Given the description of an element on the screen output the (x, y) to click on. 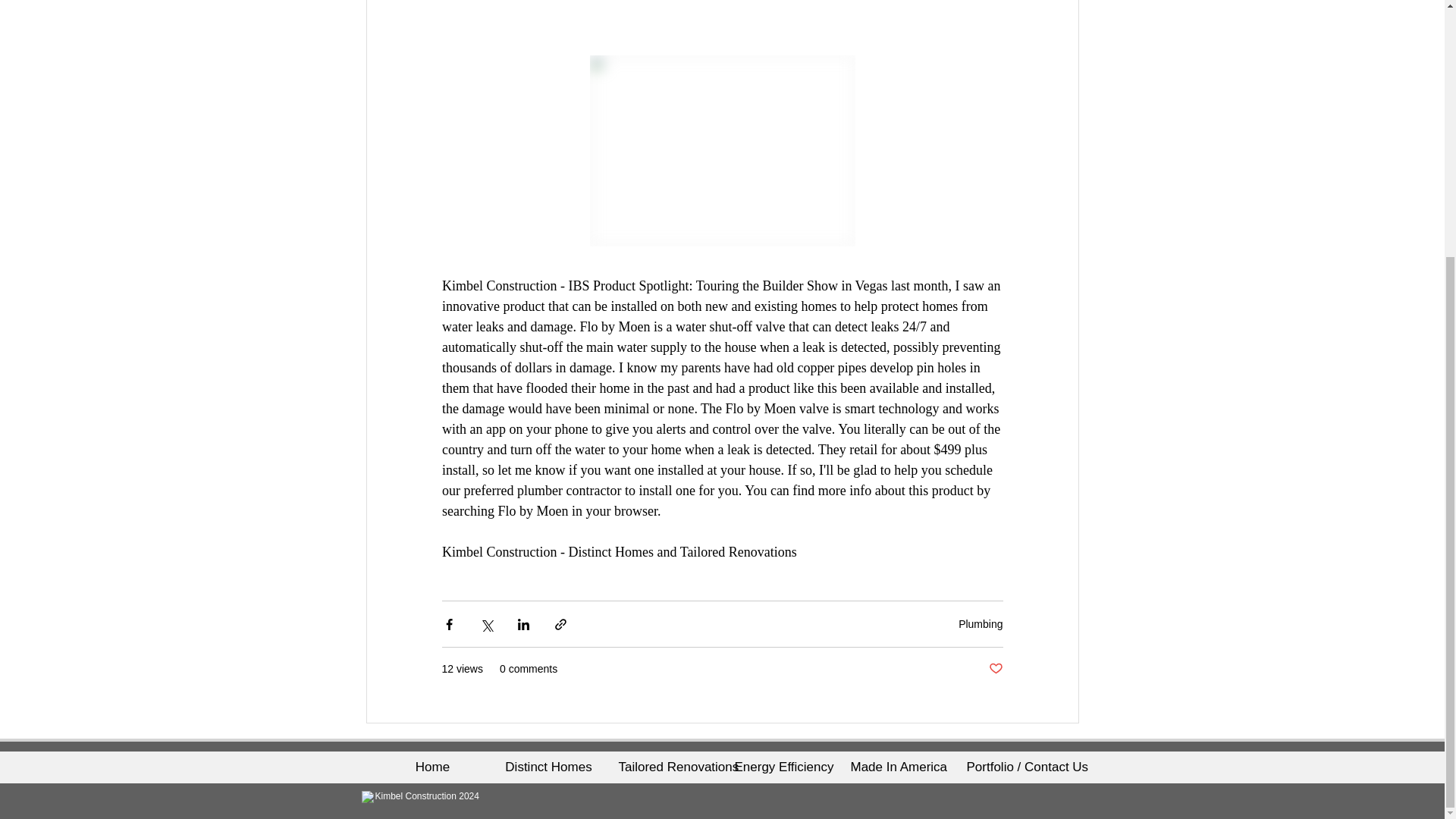
Distinct Homes (547, 766)
Plumbing (980, 623)
Tailored Renovations (664, 766)
Post not marked as liked (995, 668)
Made In America (896, 766)
Energy Efficiency (780, 766)
Home (432, 766)
